Given the description of an element on the screen output the (x, y) to click on. 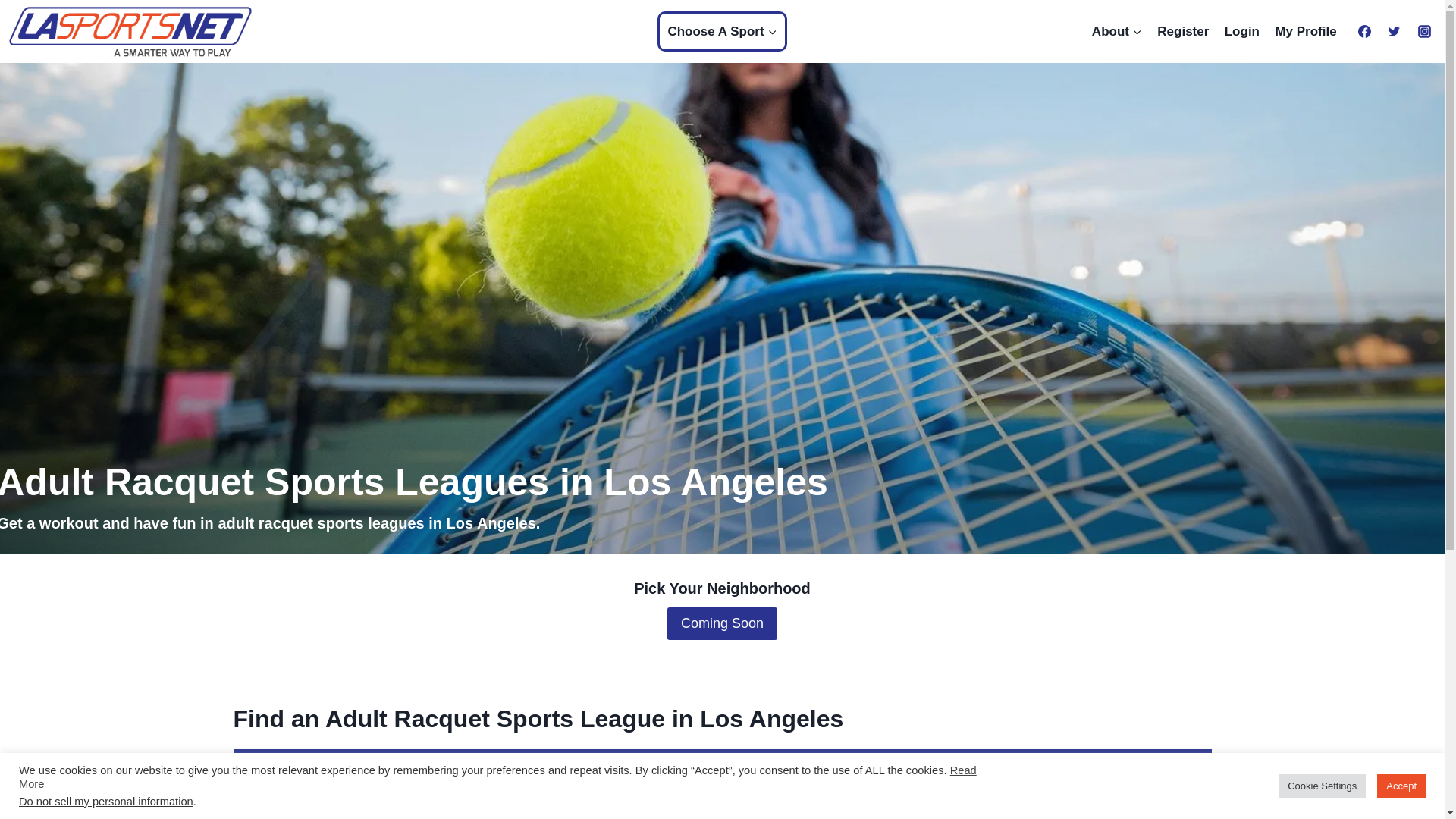
Choose A Sport (722, 31)
Login (1242, 31)
My Profile (1304, 31)
Register (1182, 31)
About (1117, 31)
